Given the description of an element on the screen output the (x, y) to click on. 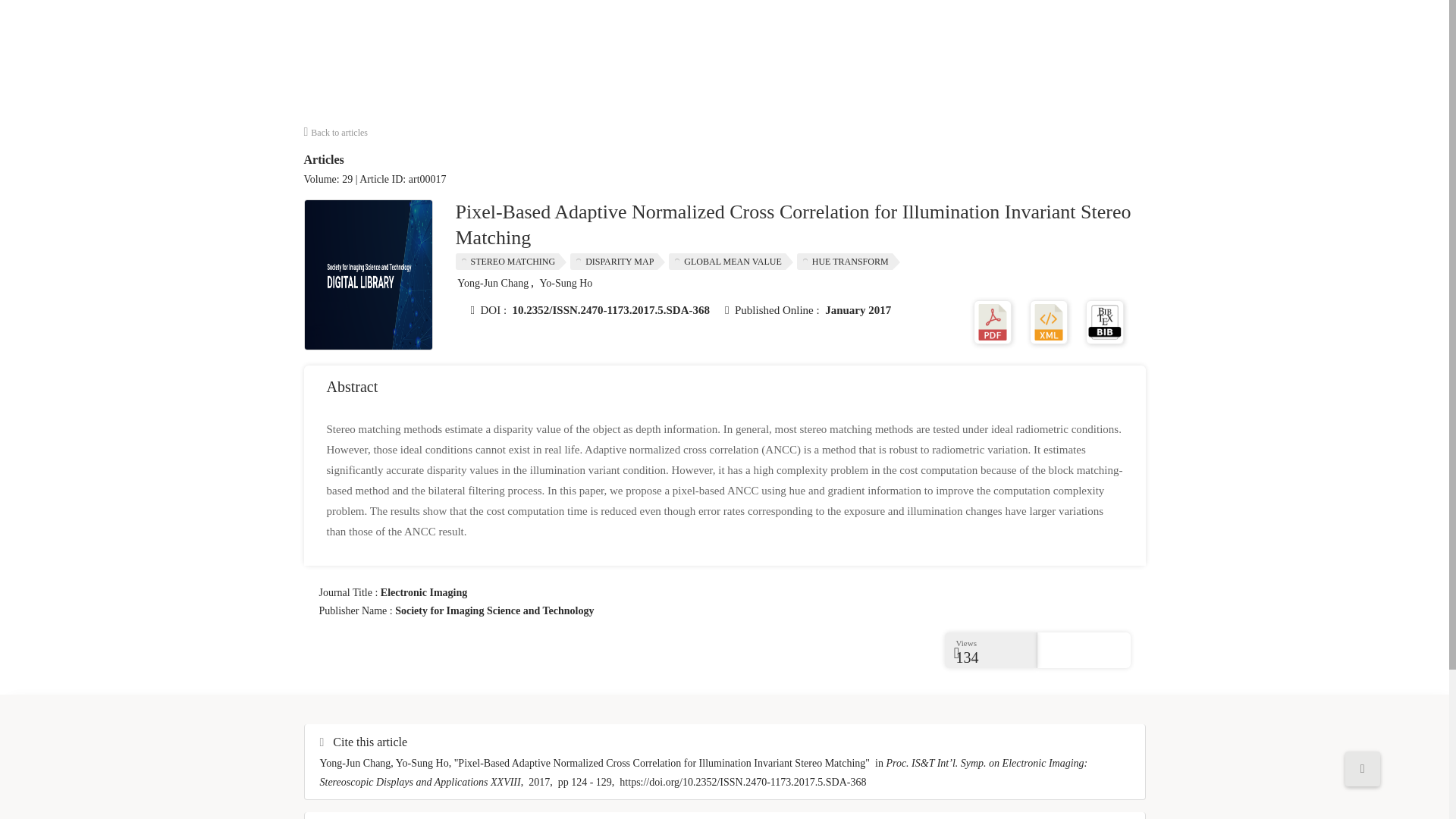
Download BibTeX (1105, 320)
HUE TRANSFORM (847, 261)
Download PDF (992, 320)
GLOBAL MEAN VALUE (730, 261)
STEREO MATCHING (510, 261)
DISPARITY MAP (617, 261)
Download XML (1048, 320)
